Given the description of an element on the screen output the (x, y) to click on. 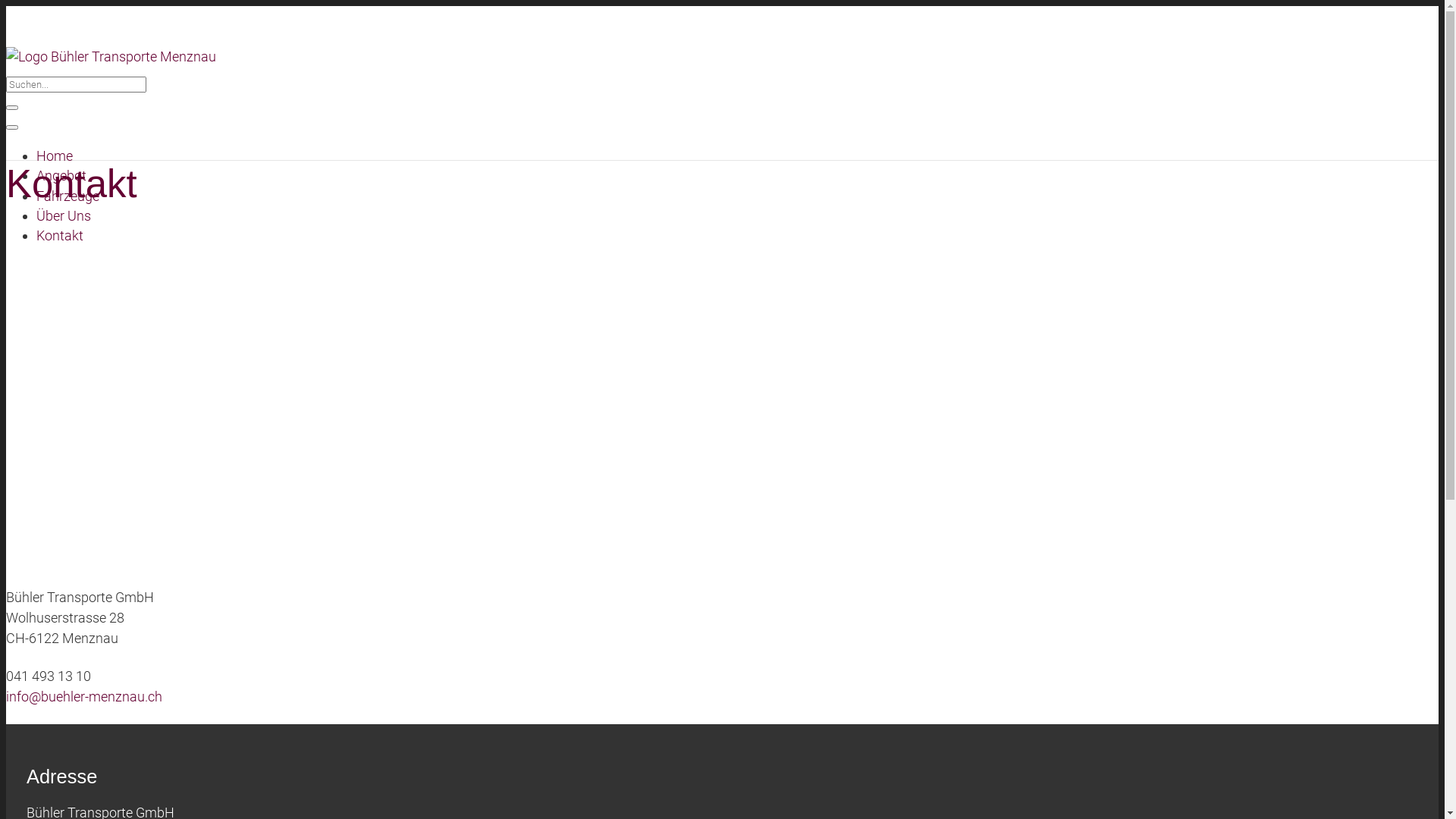
Angebot Element type: text (61, 175)
Kontakt Element type: text (59, 235)
Fahrzeuge Element type: text (67, 195)
Home Element type: text (54, 155)
info@buehler-menznau.ch Element type: text (84, 696)
